Given the description of an element on the screen output the (x, y) to click on. 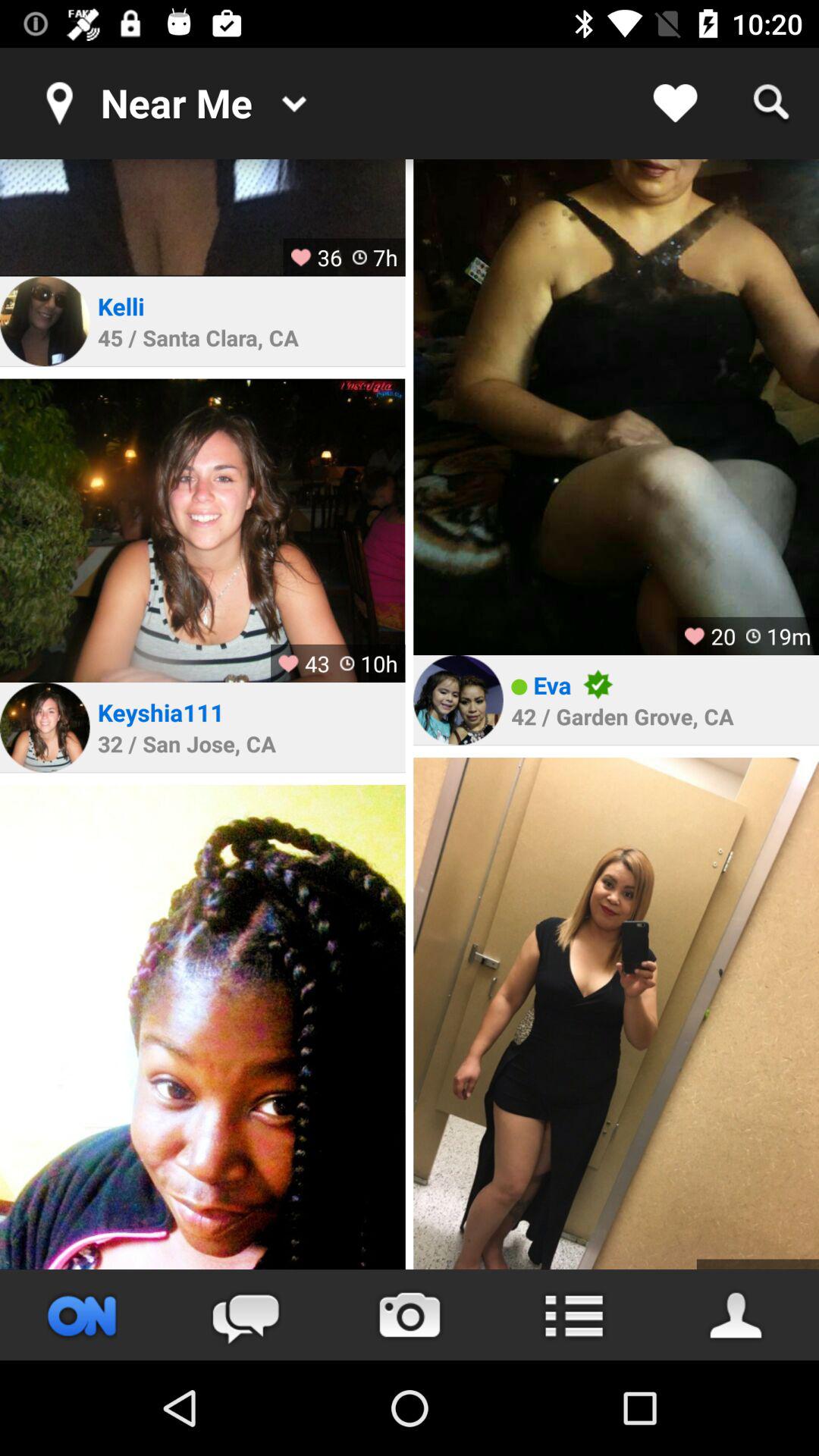
select the image (202, 530)
